Given the description of an element on the screen output the (x, y) to click on. 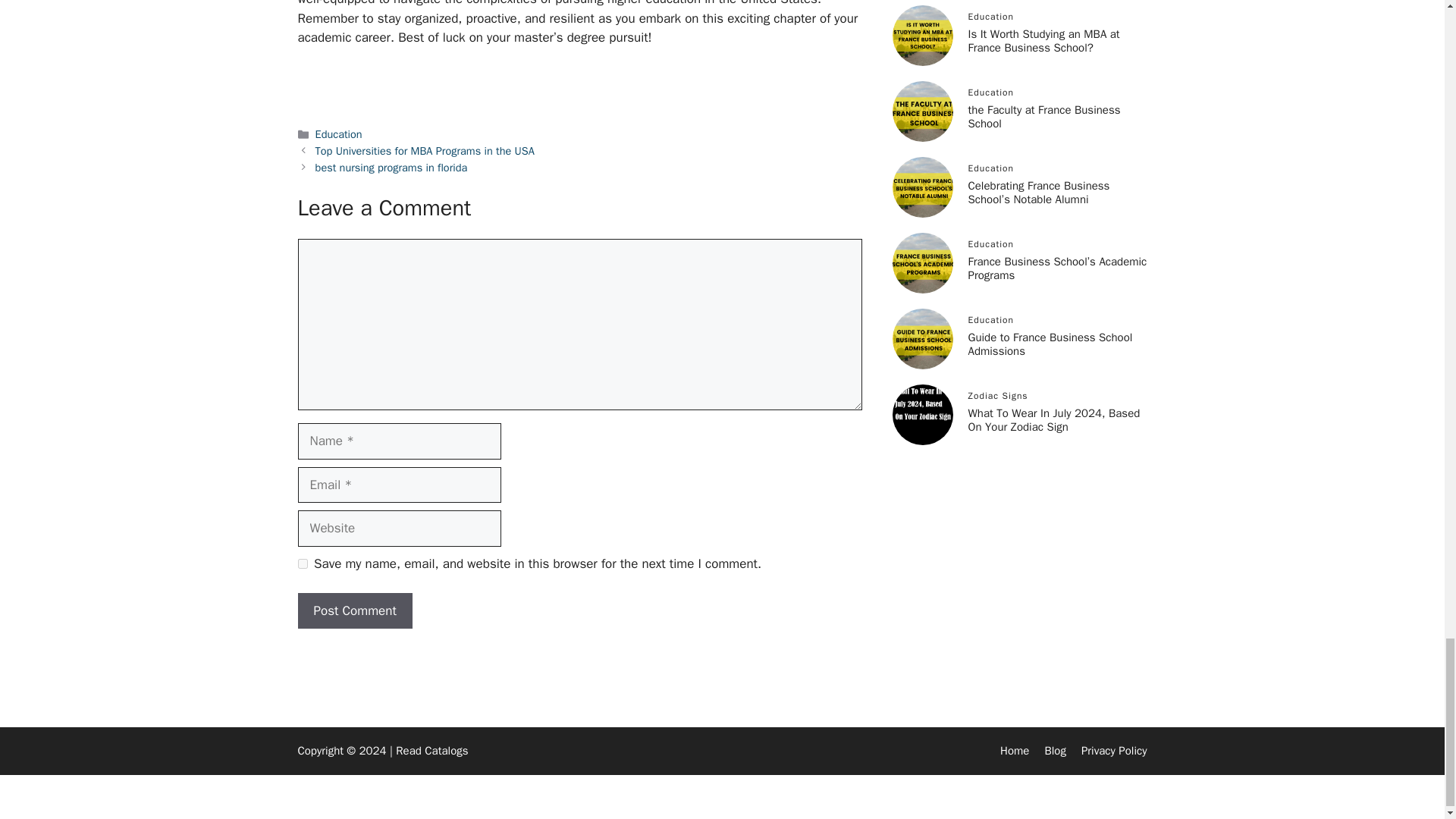
yes (302, 563)
Top Universities for MBA Programs in the USA (424, 151)
Education (338, 133)
Post Comment (354, 610)
best nursing programs in florida (391, 167)
Privacy Policy (1114, 750)
Blog (1054, 750)
Post Comment (354, 610)
Home (1014, 750)
